Given the description of an element on the screen output the (x, y) to click on. 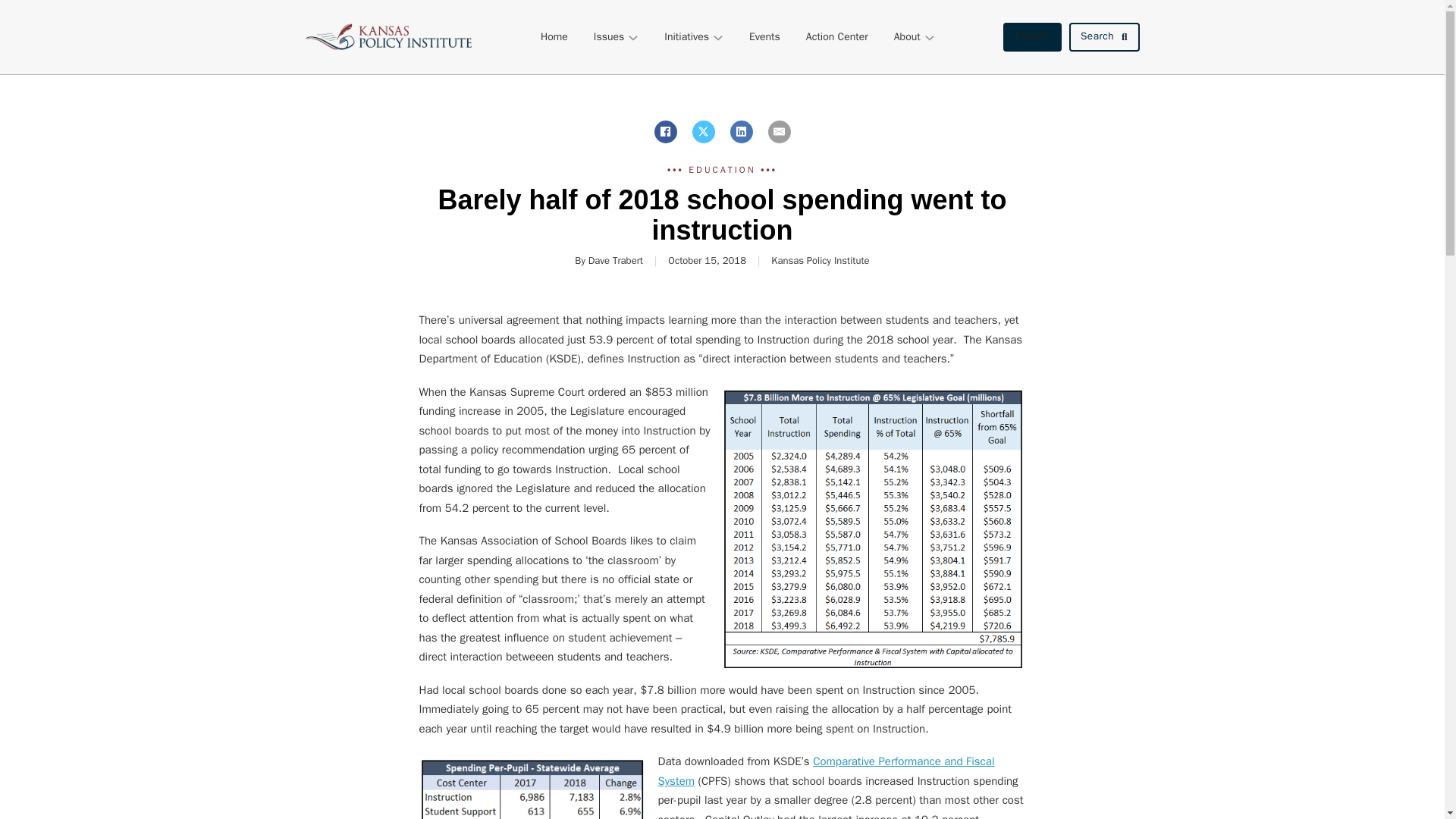
Search (1104, 36)
Dave Trabert (615, 259)
EDUCATION (721, 169)
Home (554, 36)
Action Center (837, 36)
Donate (1032, 36)
Events (764, 36)
